Given the description of an element on the screen output the (x, y) to click on. 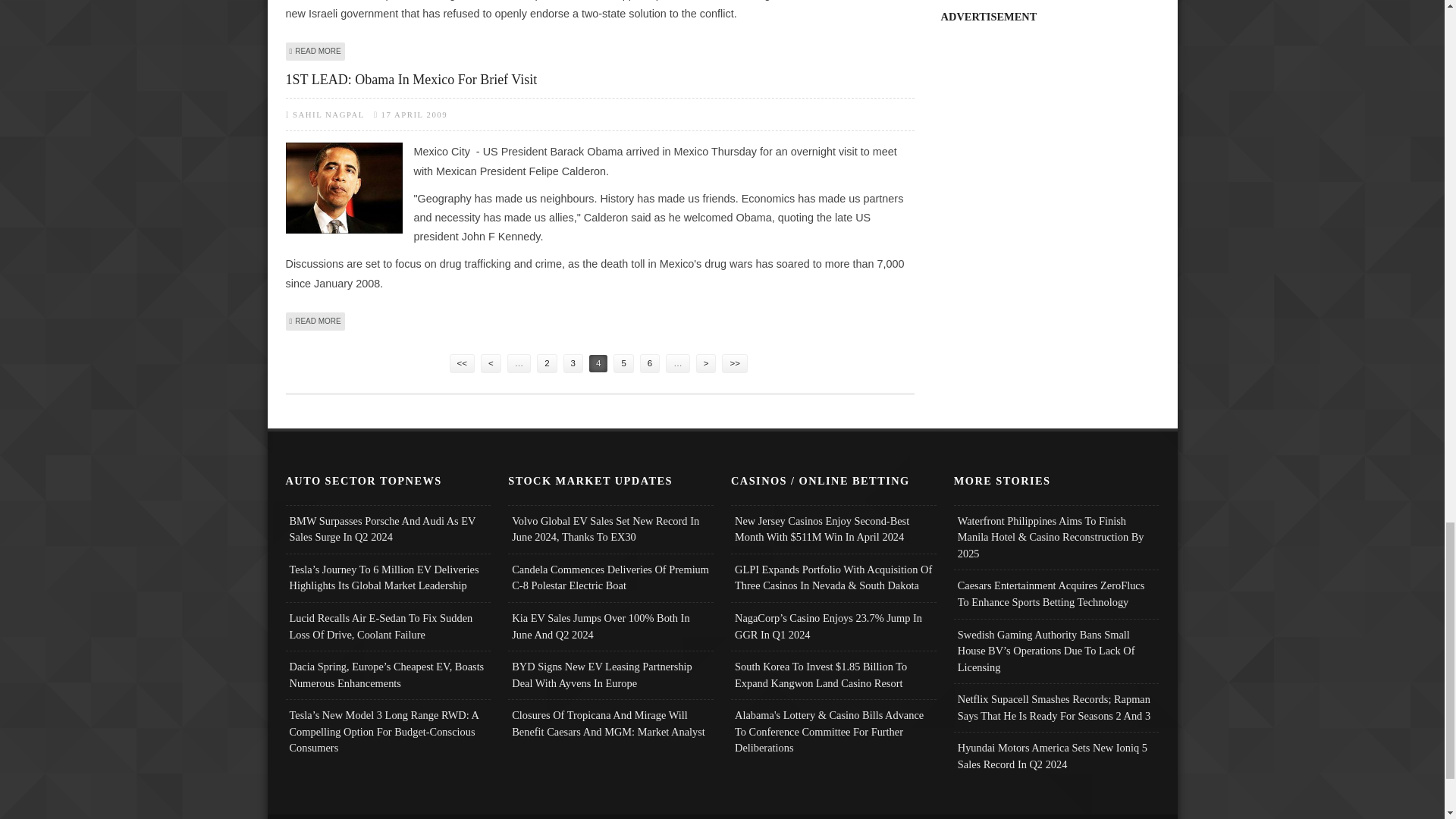
1ST LEAD: Obama In Mexico For Brief Visit (599, 79)
SAHIL NAGPAL (314, 320)
